Given the description of an element on the screen output the (x, y) to click on. 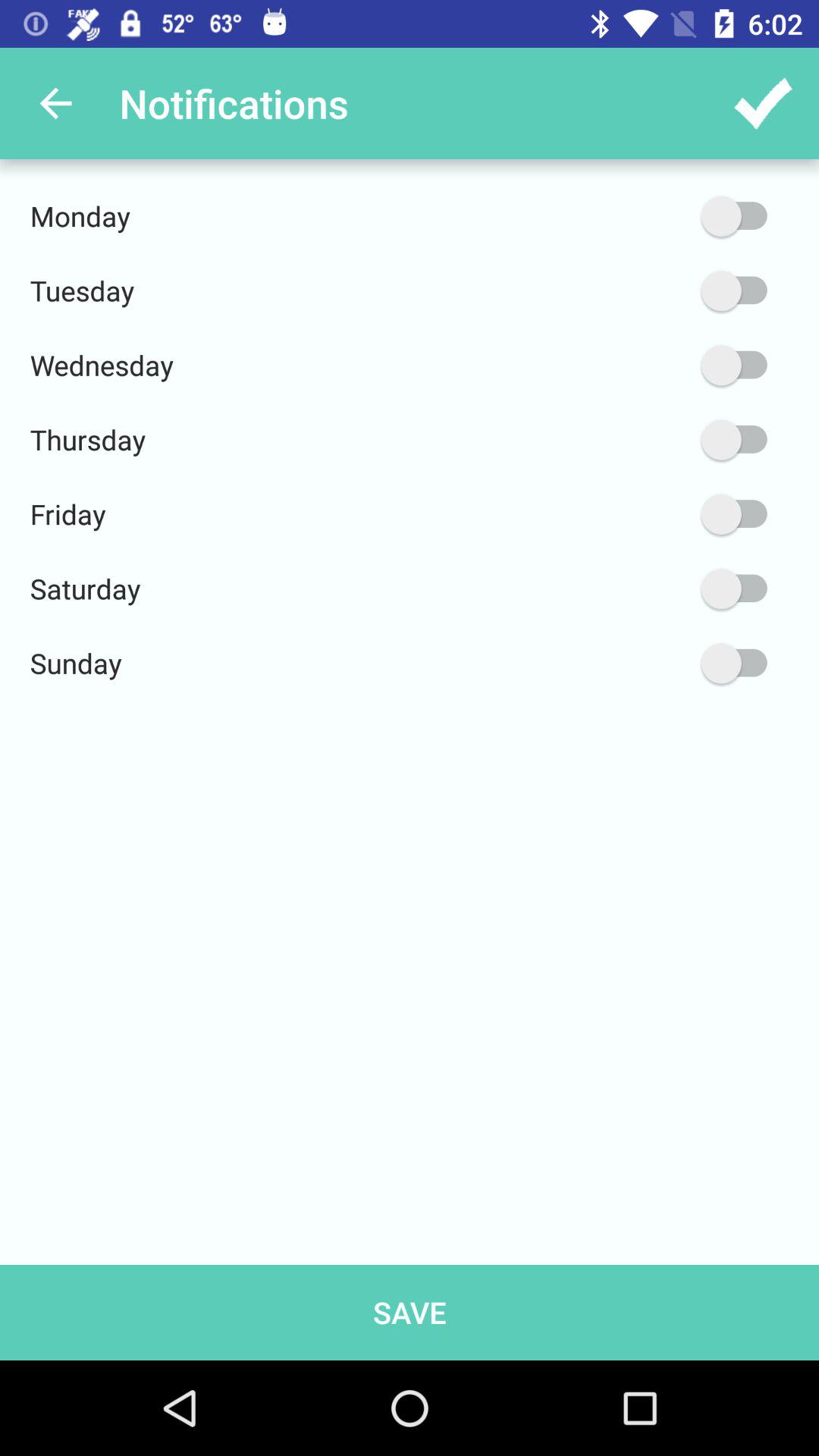
choose the item to the right of thursday icon (661, 439)
